Given the description of an element on the screen output the (x, y) to click on. 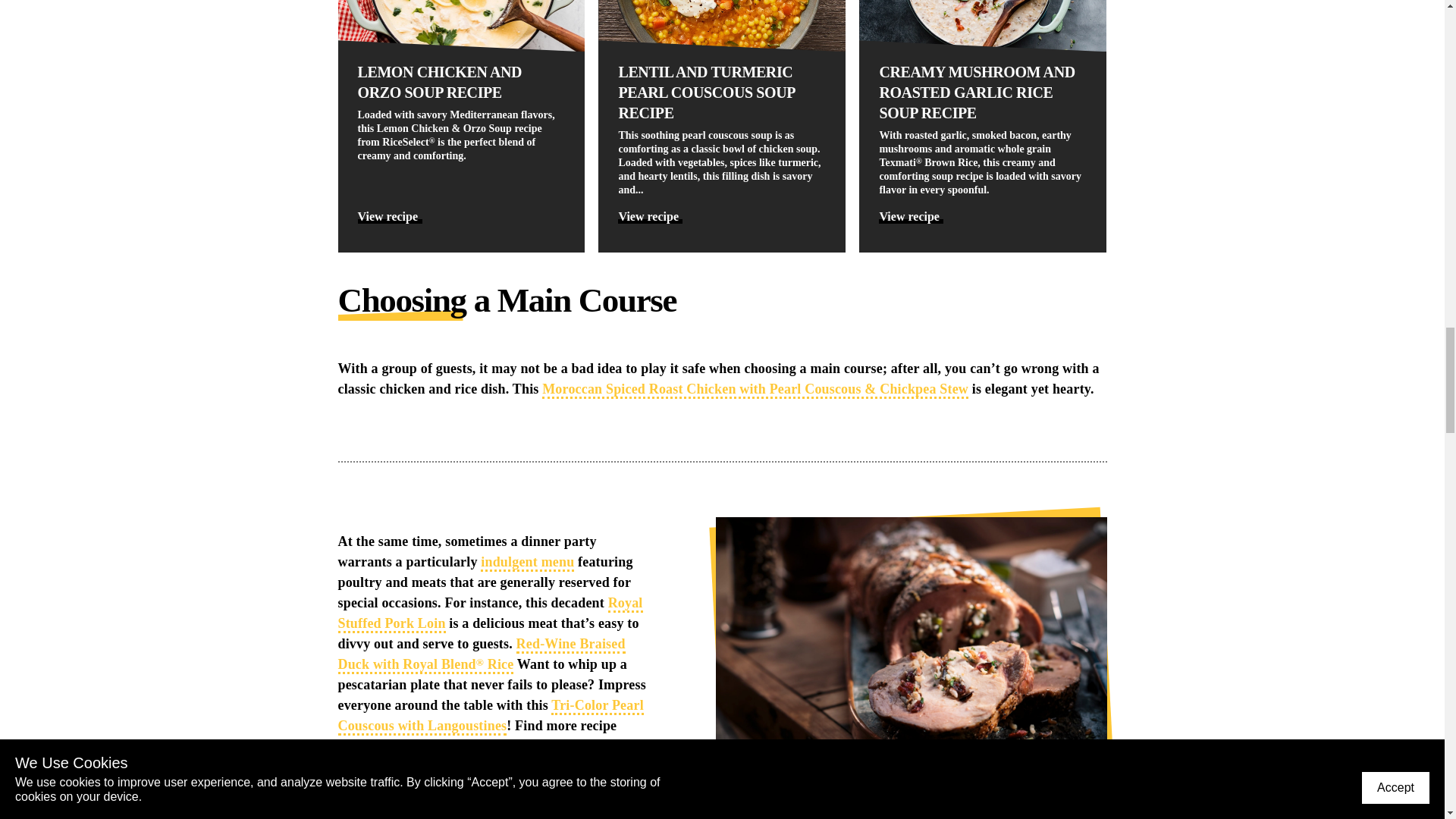
View recipe (649, 216)
indulgent menu (526, 562)
Royal Stuffed Pork Loin (490, 614)
Tri-Color Pearl Couscous with Langoustines (490, 716)
View recipe (911, 216)
View recipe (390, 216)
